Given the description of an element on the screen output the (x, y) to click on. 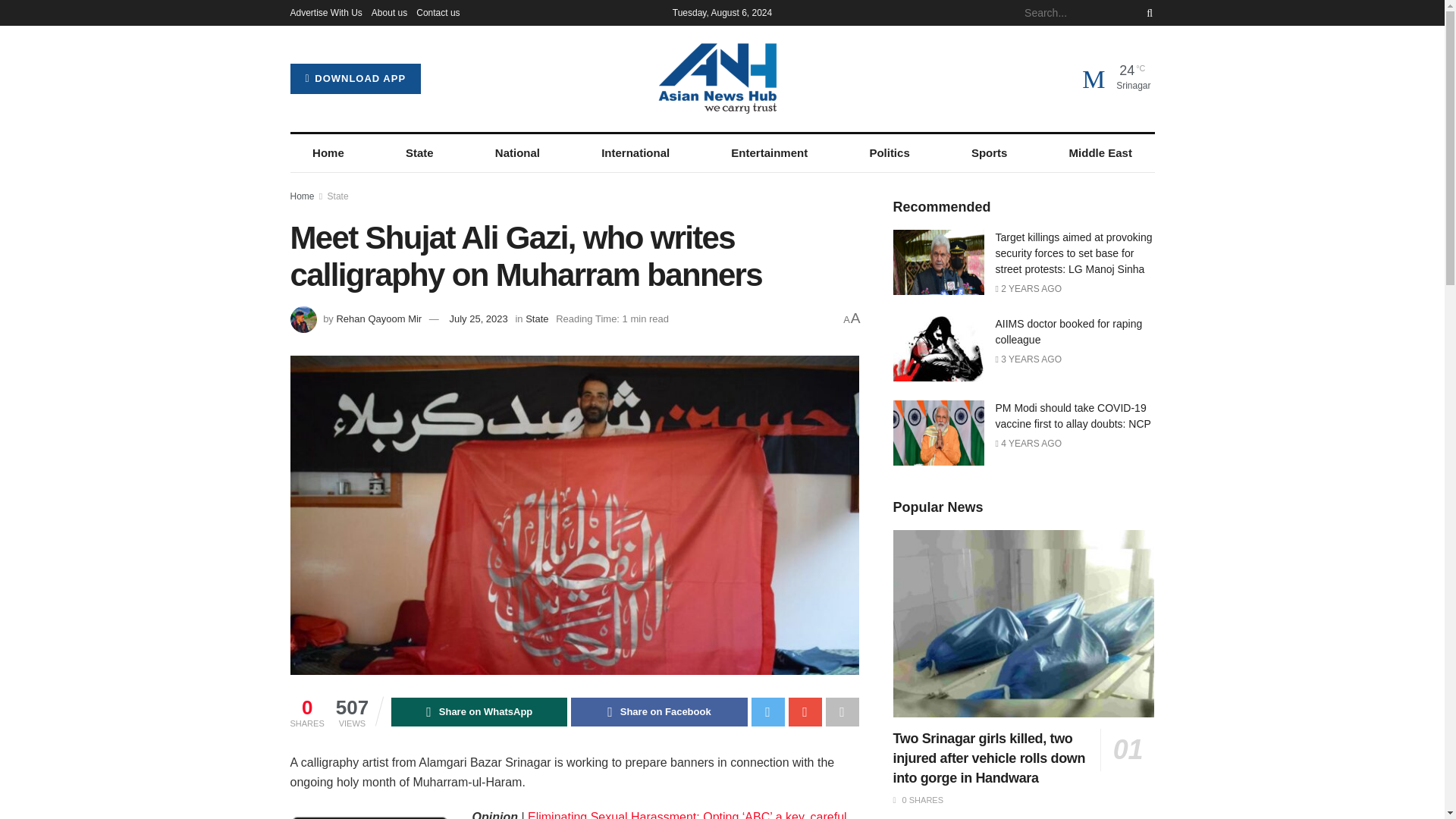
Entertainment (769, 152)
DOWNLOAD APP (354, 78)
State (338, 195)
National (516, 152)
Home (327, 152)
Politics (890, 152)
Middle East (1100, 152)
Home (301, 195)
Sports (989, 152)
State (418, 152)
